Given the description of an element on the screen output the (x, y) to click on. 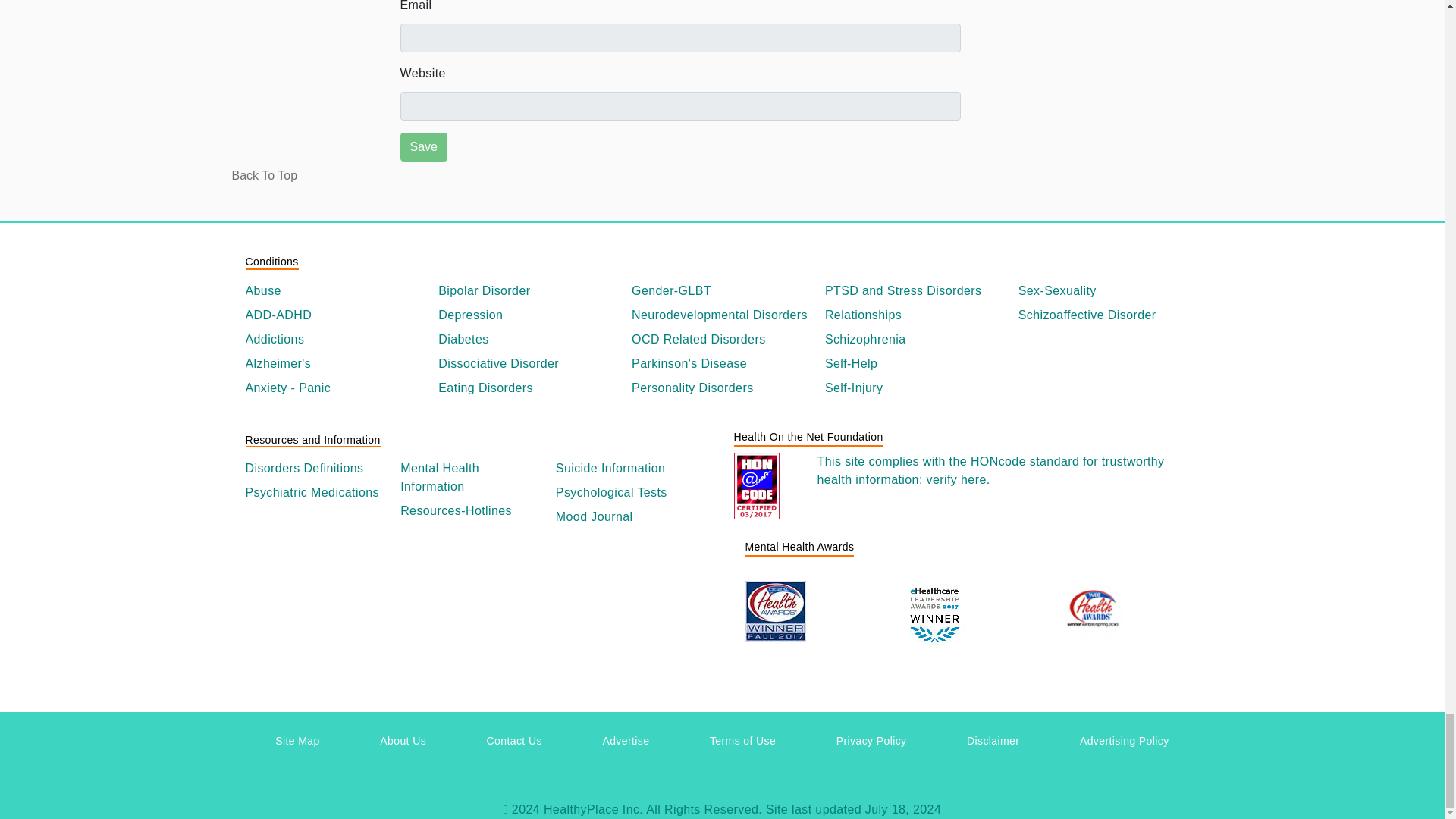
Parkinson's Disease Information Articles (721, 363)
